Given the description of an element on the screen output the (x, y) to click on. 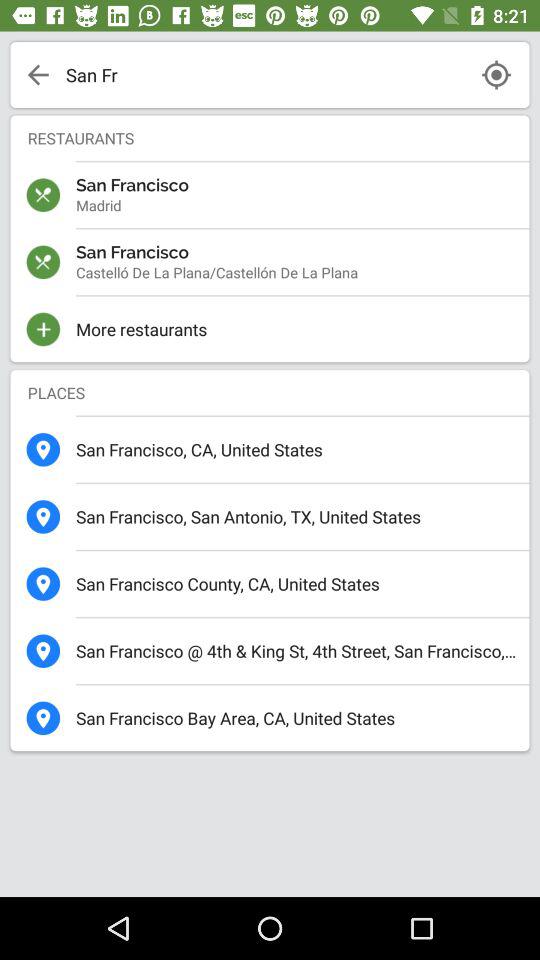
scroll until the san fr (264, 74)
